Given the description of an element on the screen output the (x, y) to click on. 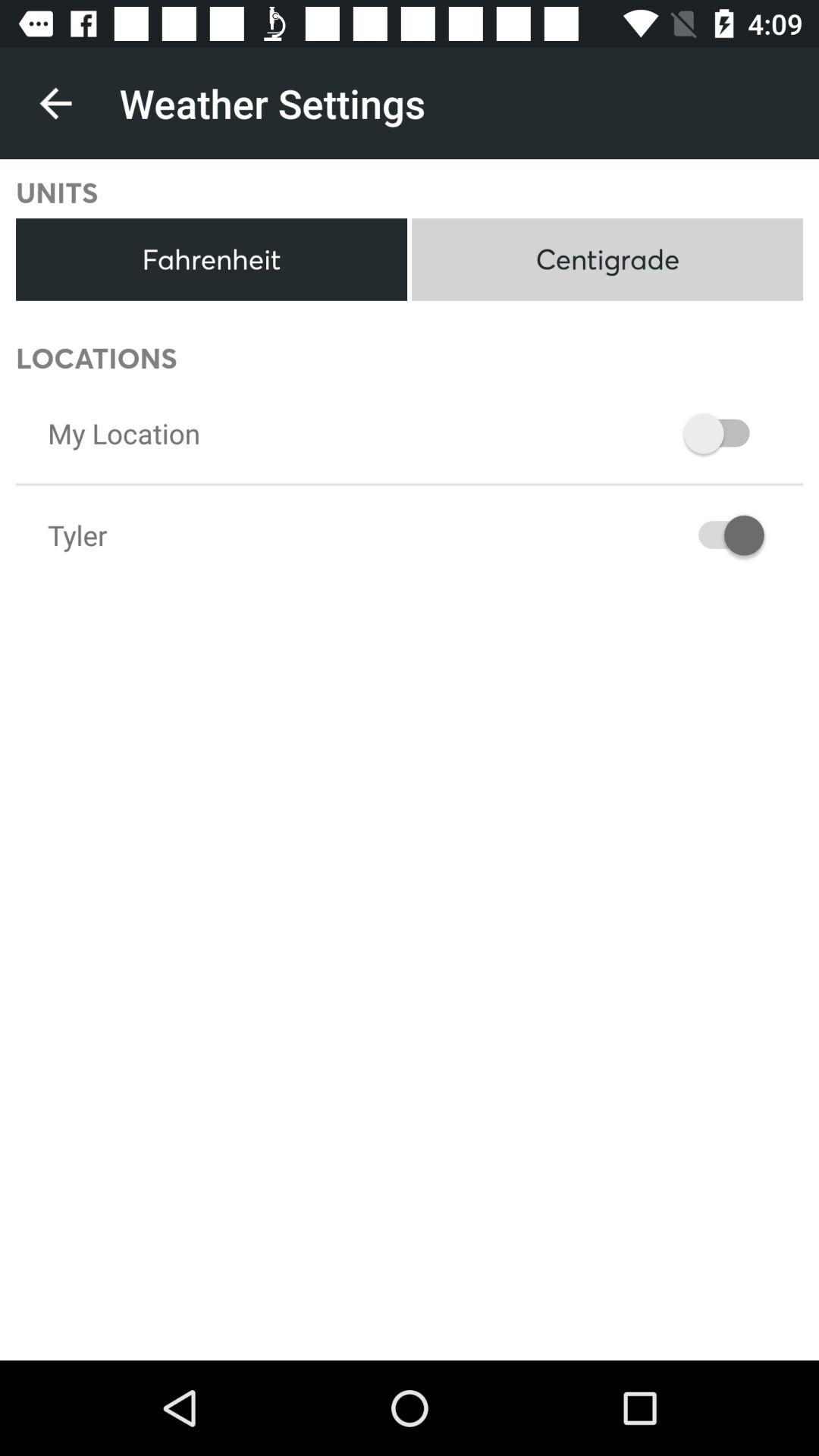
swipe until my location icon (123, 433)
